Given the description of an element on the screen output the (x, y) to click on. 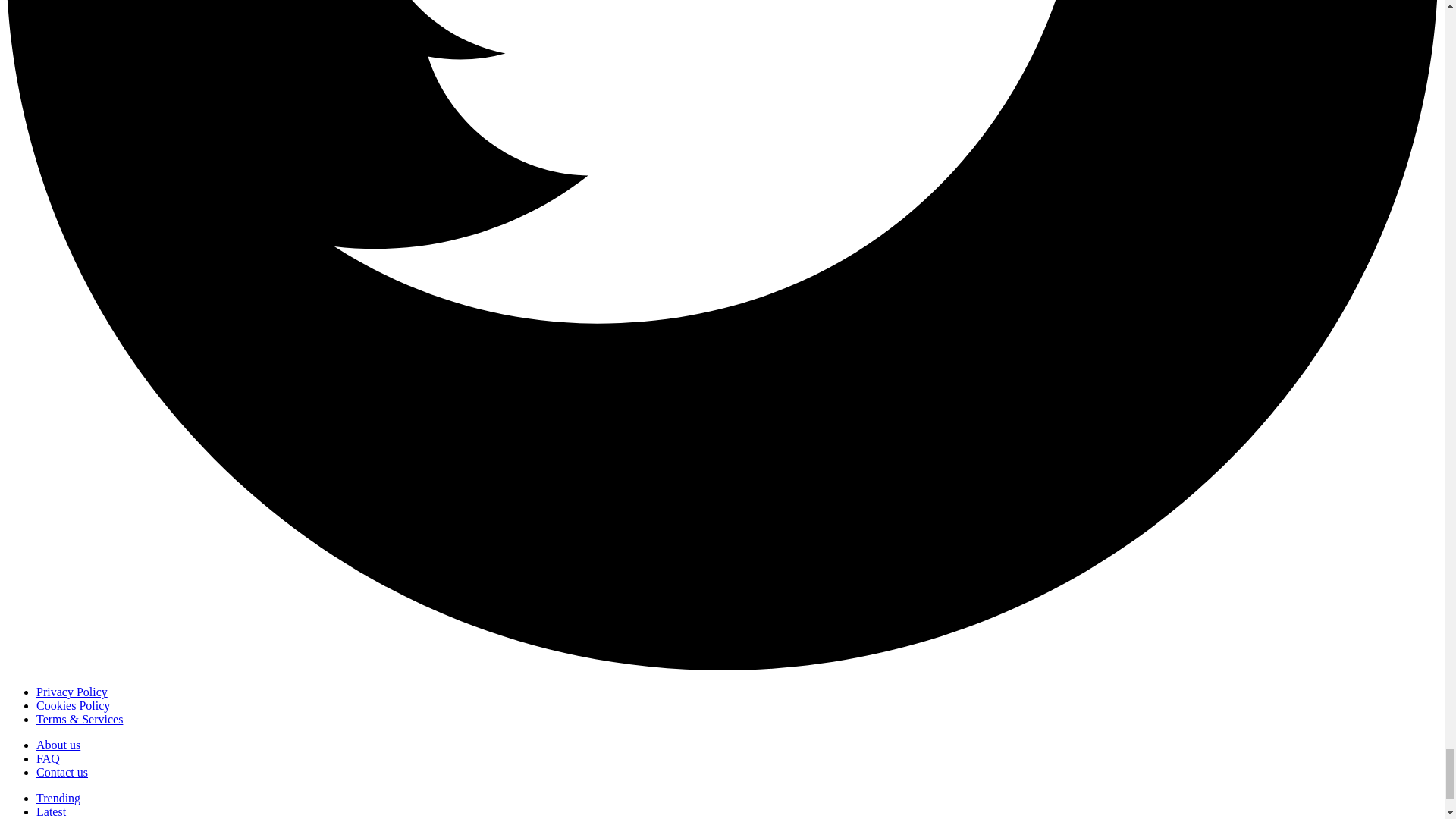
Contact us (61, 771)
Cookies Policy (73, 705)
Latest (50, 811)
About us (58, 744)
FAQ (47, 758)
Trending (58, 797)
Privacy Policy (71, 691)
